Given the description of an element on the screen output the (x, y) to click on. 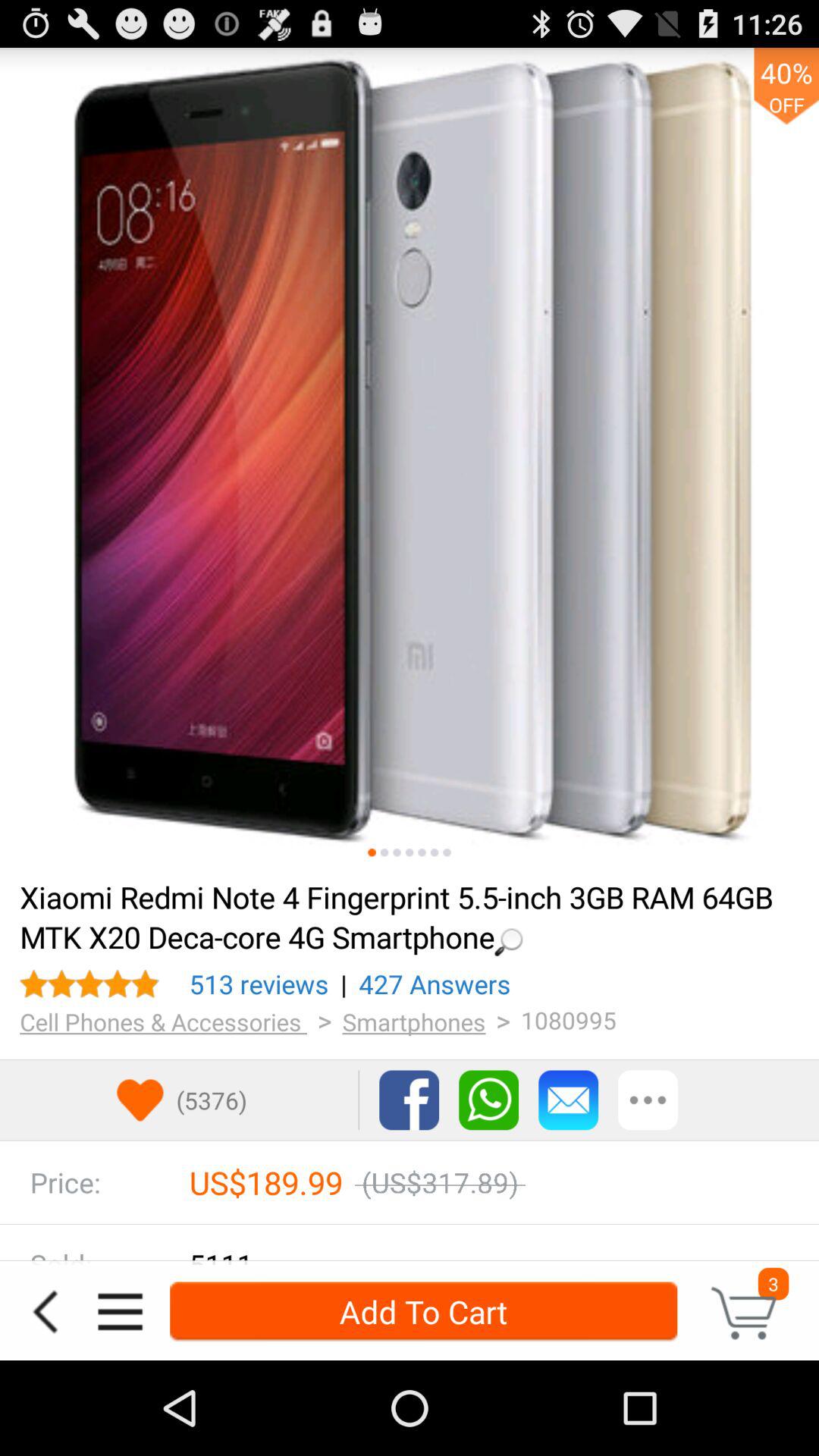
scroll until loading... icon (399, 916)
